Given the description of an element on the screen output the (x, y) to click on. 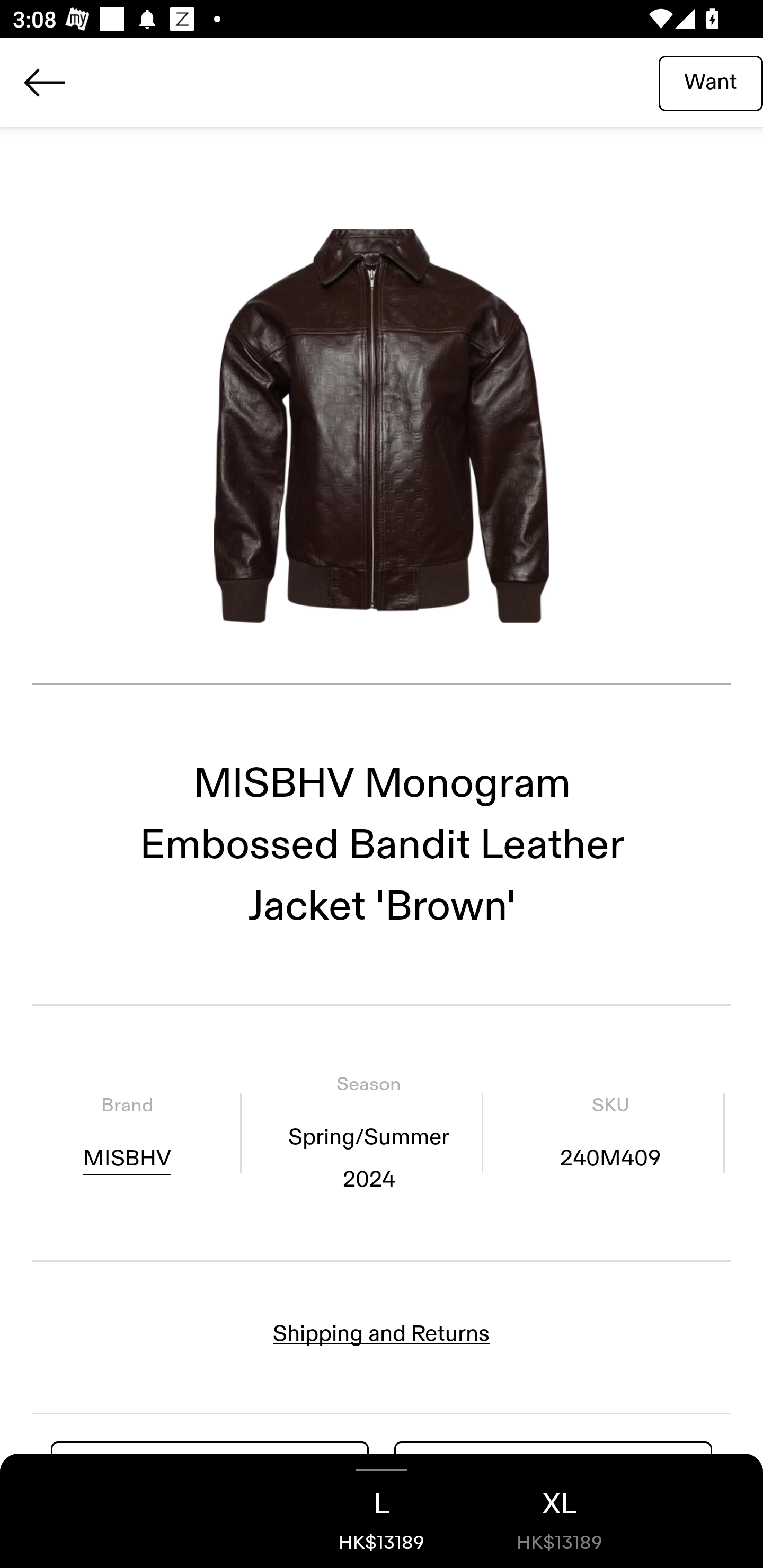
Want (710, 82)
Brand MISBHV (126, 1133)
Season Spring/Summer 2024 (368, 1133)
SKU 240M409 (609, 1133)
Shipping and Returns (381, 1333)
L HK$13189 (381, 1510)
XL HK$13189 (559, 1510)
